Given the description of an element on the screen output the (x, y) to click on. 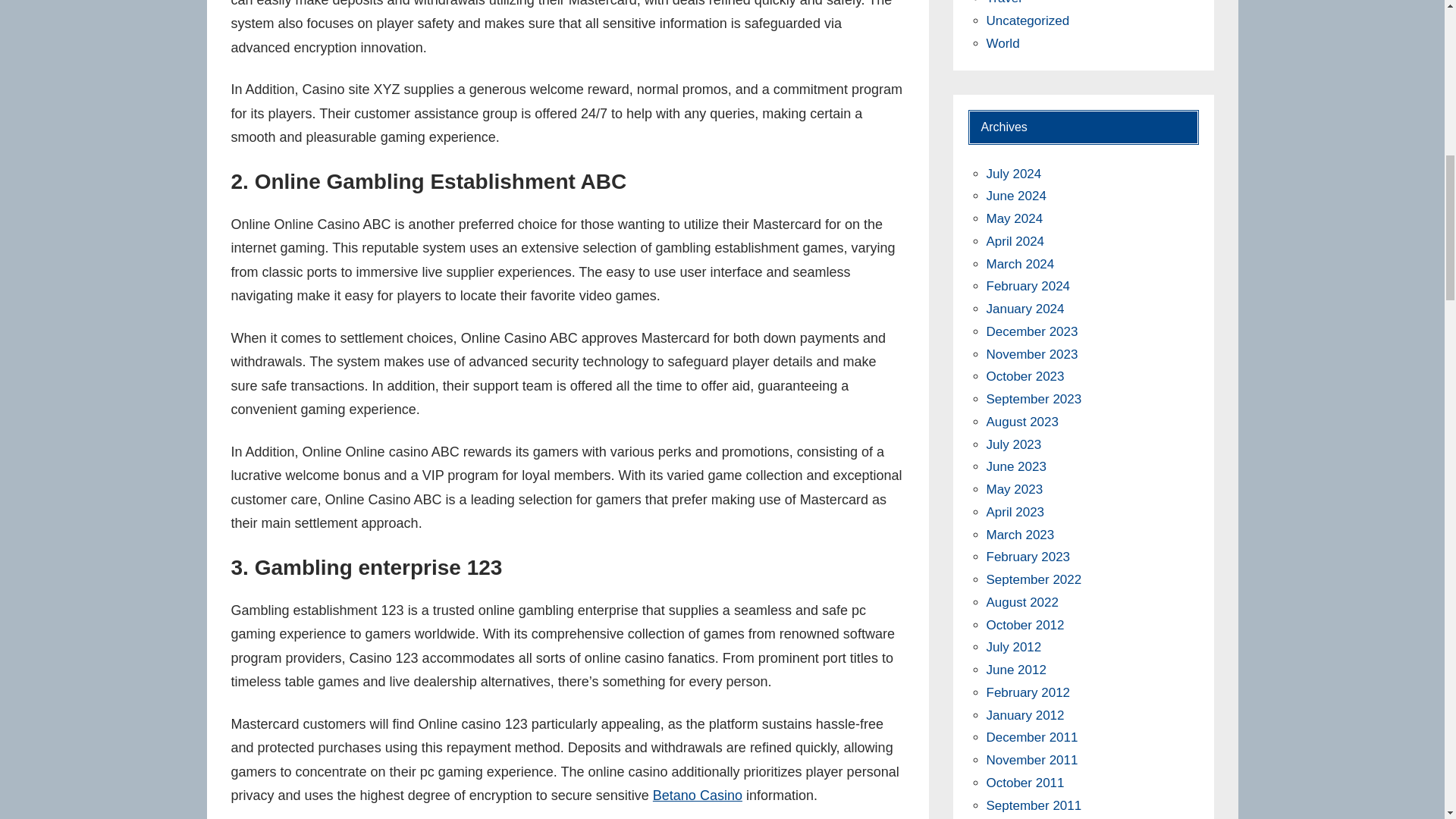
Betano Casino (697, 795)
Travel (1003, 2)
